Given the description of an element on the screen output the (x, y) to click on. 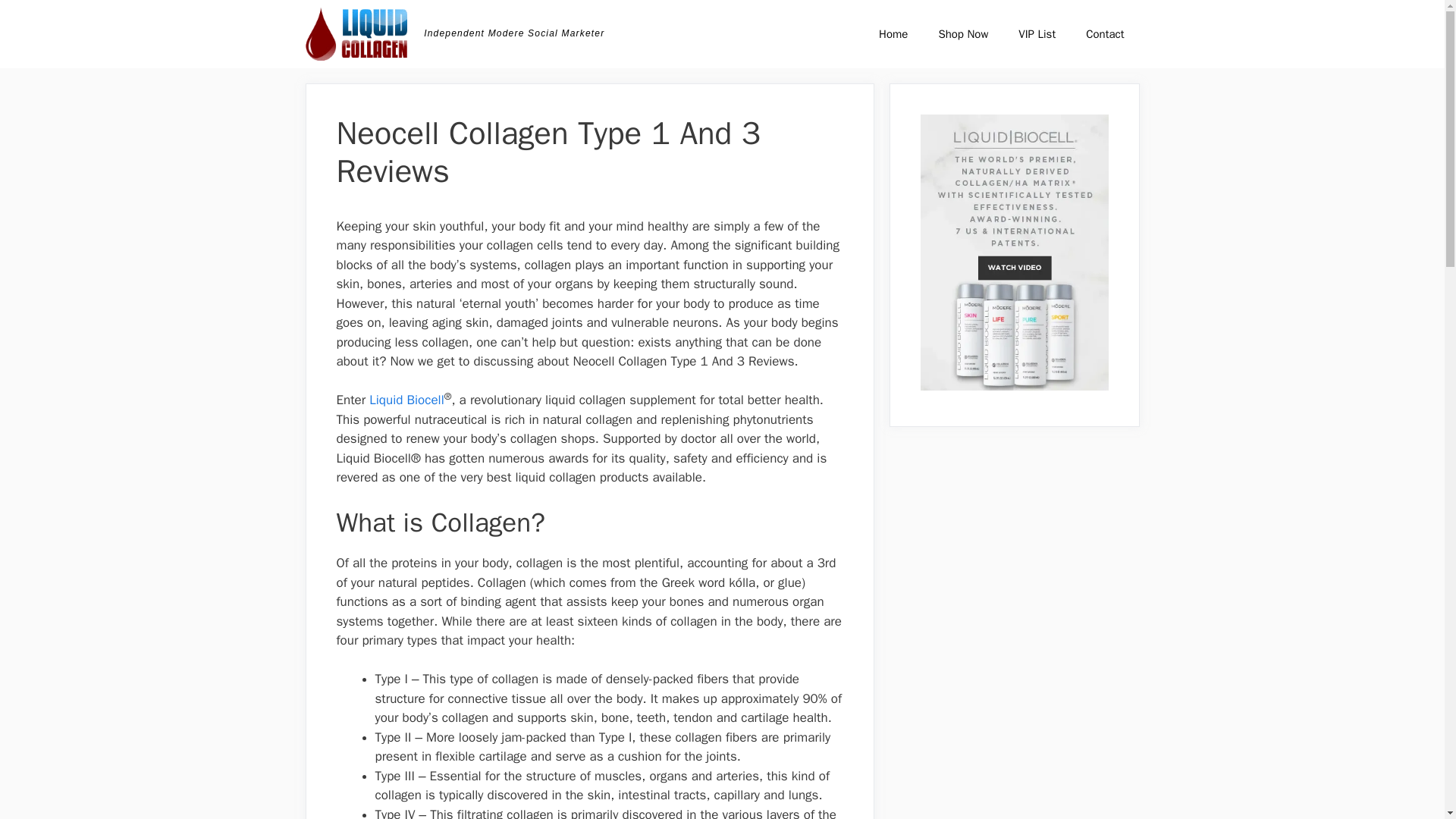
Liquid Biocell (406, 399)
BestLiquidCollagen.com (359, 33)
Shop Now (963, 33)
Home (893, 33)
VIP List (1036, 33)
Contact (1104, 33)
BestLiquidCollagen.com (355, 33)
